Given the description of an element on the screen output the (x, y) to click on. 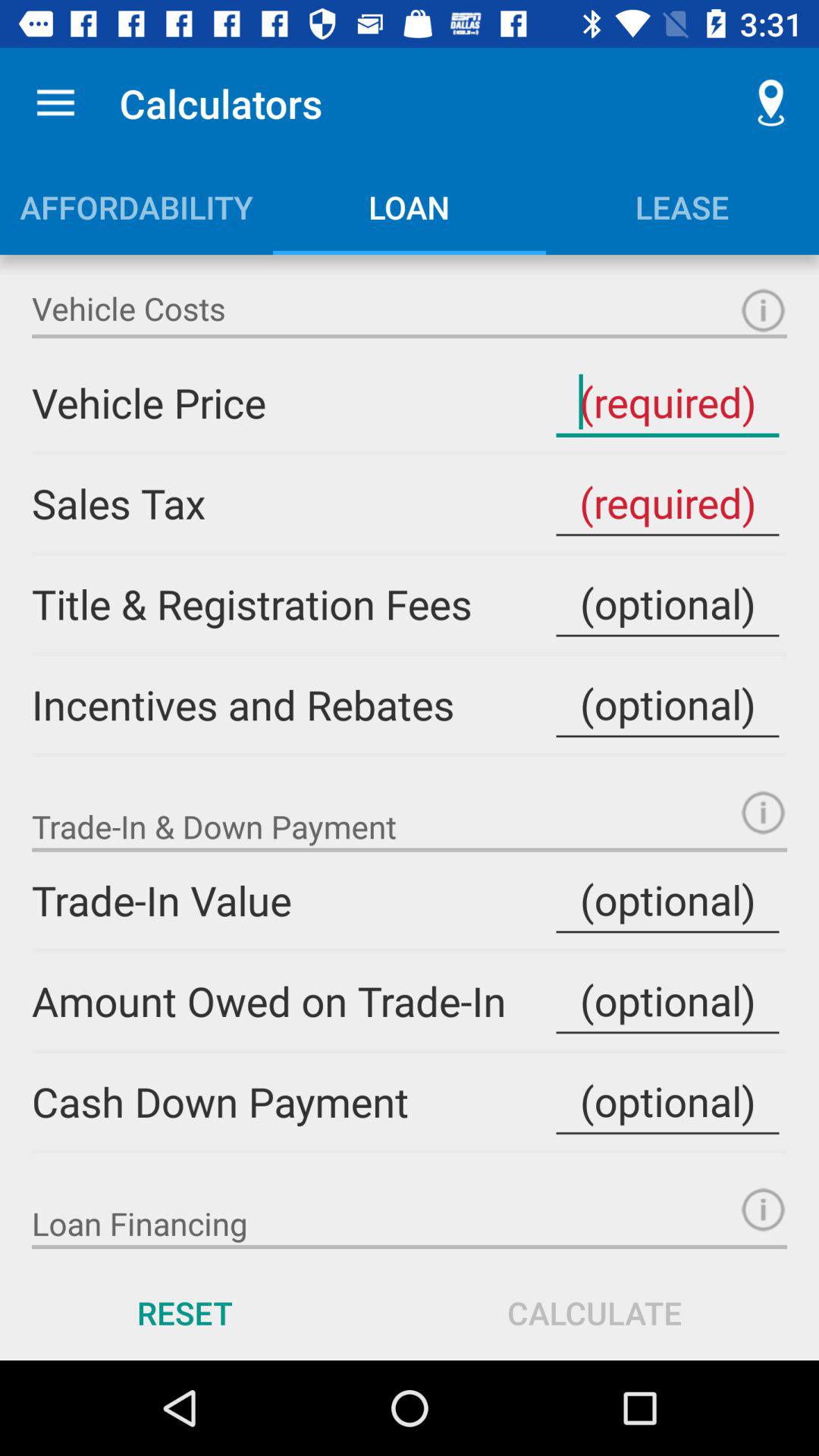
get definition (763, 812)
